Given the description of an element on the screen output the (x, y) to click on. 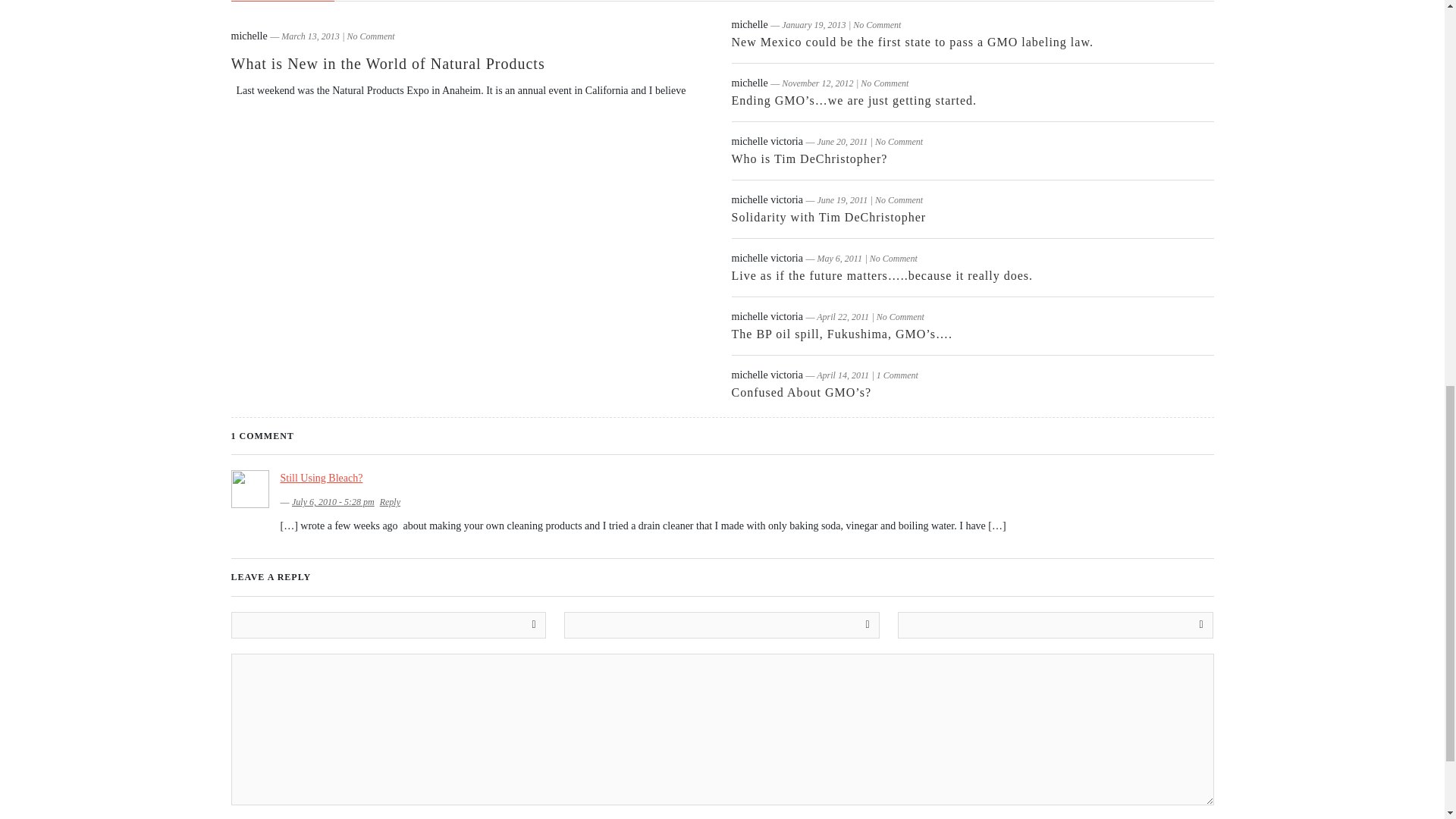
1 Comment (897, 375)
What is New in the World of Natural Products (387, 63)
What is New in the World of Natural Products (387, 63)
Still Using Bleach? (321, 478)
No Comment (899, 141)
July 6, 2010 - 5:28 pm (333, 501)
No Comment (877, 24)
Reply (390, 501)
No Comment (884, 82)
No Comment (899, 199)
No Comment (900, 317)
Solidarity with Tim DeChristopher (828, 216)
Solidarity with Tim DeChristopher (828, 216)
Who is Tim DeChristopher? (808, 158)
